Given the description of an element on the screen output the (x, y) to click on. 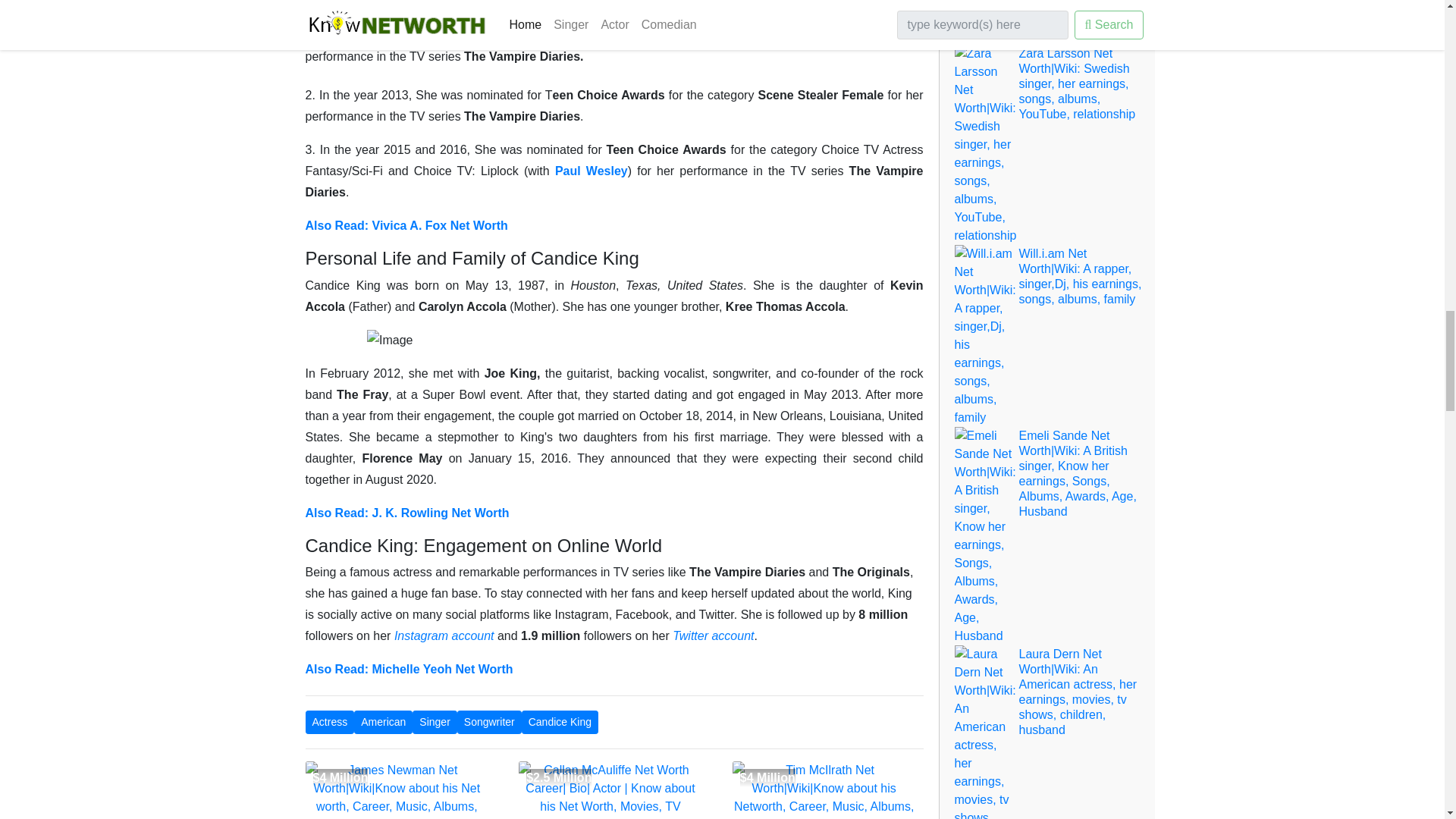
Songwriter (489, 721)
NET WORTH (342, 817)
Advertisement (613, 790)
NET WORTH (770, 817)
Candice King (559, 721)
Paul Wesley (590, 170)
Instagram account (444, 635)
American (382, 721)
Also Read: Vivica A. Fox Net Worth (405, 225)
Twitter account (713, 635)
Actress (328, 721)
Singer (434, 721)
Also Read: J. K. Rowling Net Worth (406, 512)
NET WORTH (556, 817)
Also Read: Michelle Yeoh Net Worth (408, 668)
